Given the description of an element on the screen output the (x, y) to click on. 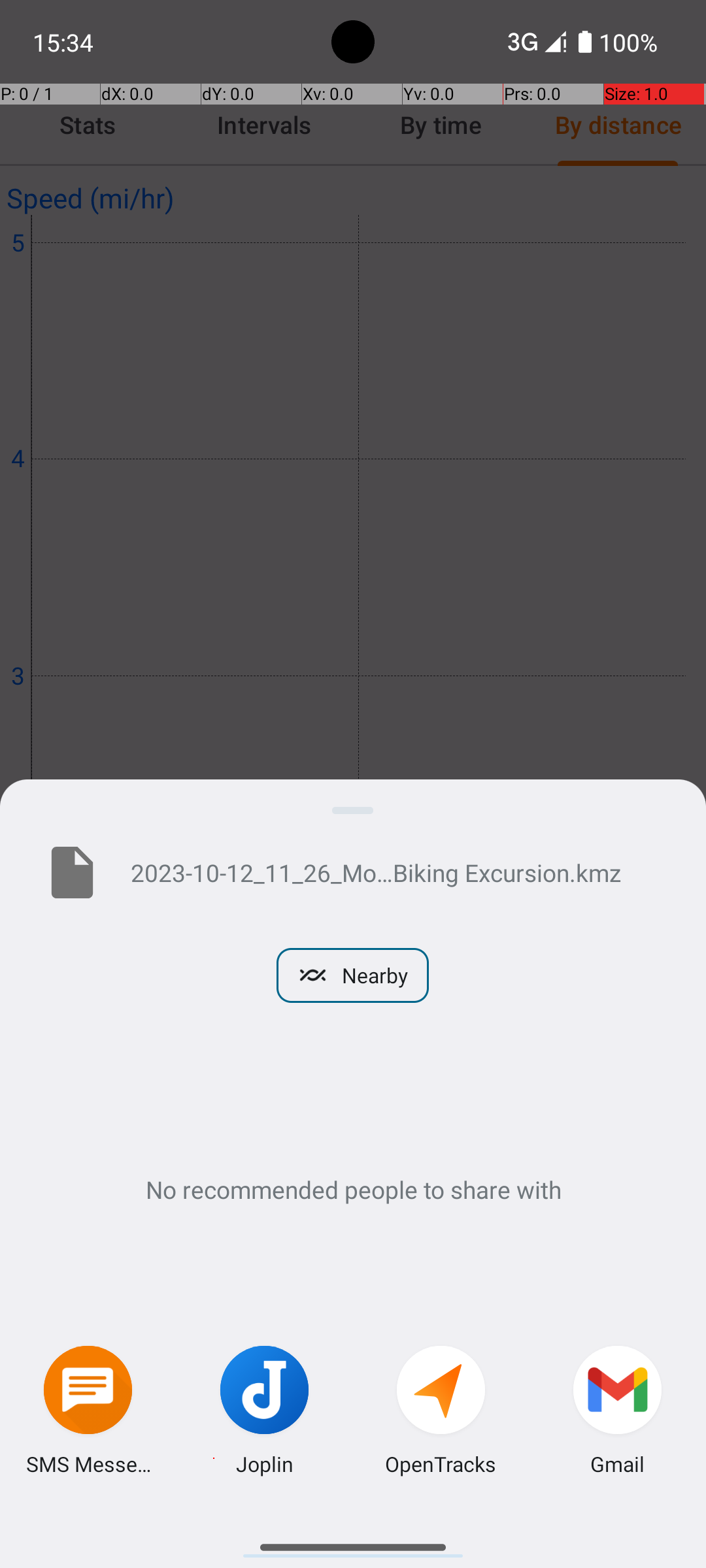
2023-10-12_11_26_Mountain Biking Excursion.kmz Element type: android.widget.TextView (397, 872)
